Given the description of an element on the screen output the (x, y) to click on. 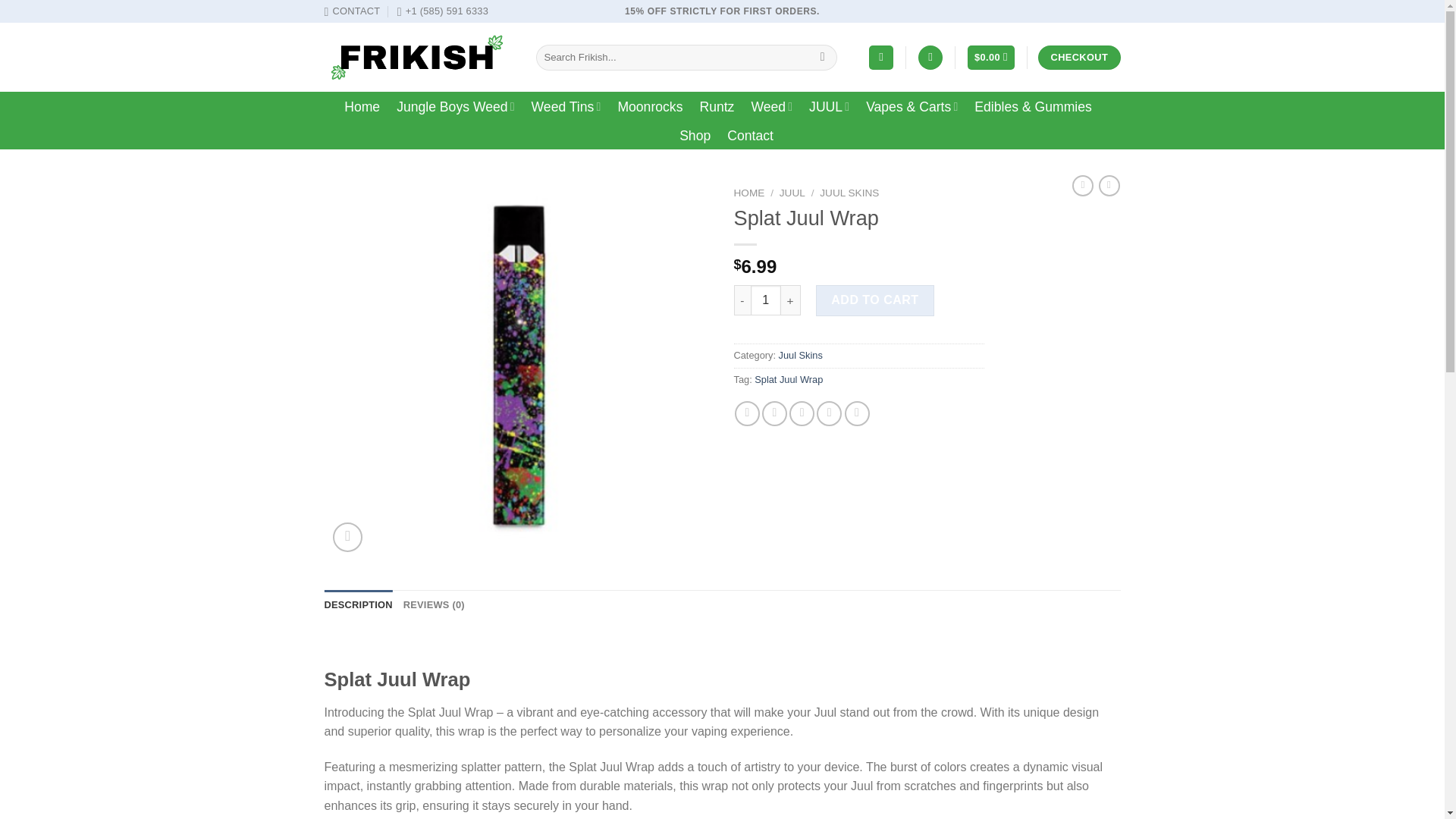
CHECKOUT (1078, 57)
1 (765, 300)
Jungle Boys Weed (454, 106)
Contact (749, 135)
Shop (694, 135)
Moonrocks (649, 106)
Runtz (715, 106)
Qty (765, 300)
CONTACT (352, 11)
Zoom (347, 537)
